Given the description of an element on the screen output the (x, y) to click on. 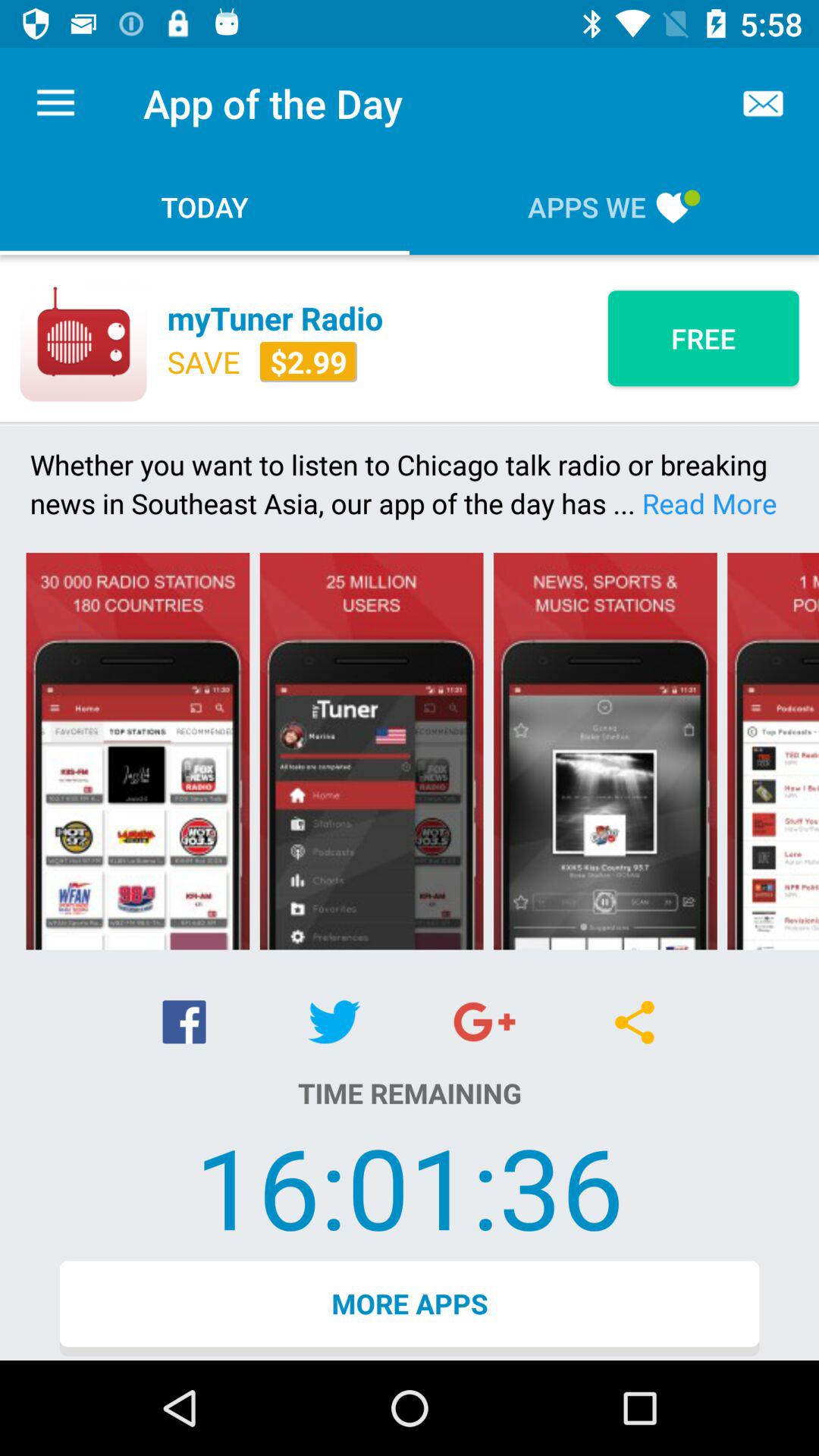
turn on the icon to the right of the app of the (763, 103)
